Given the description of an element on the screen output the (x, y) to click on. 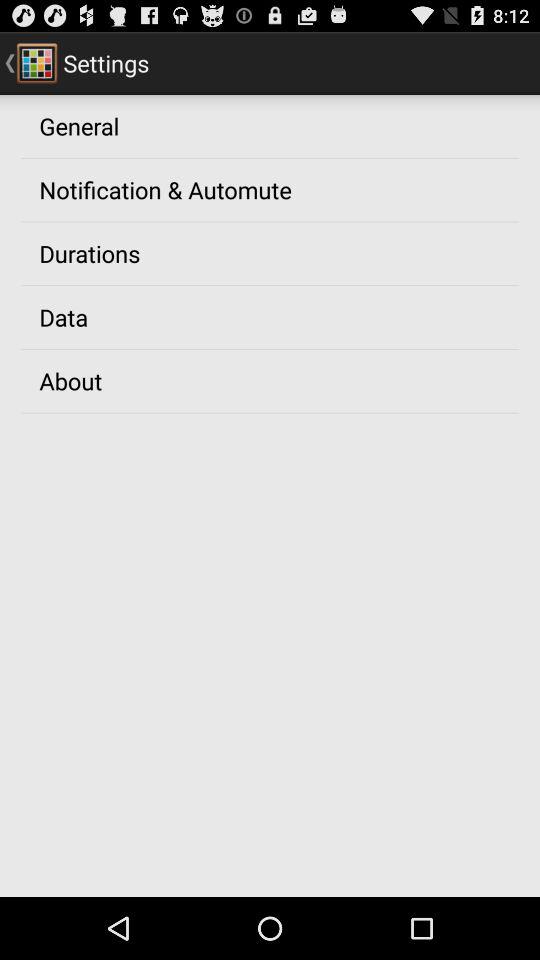
jump until general item (79, 125)
